Given the description of an element on the screen output the (x, y) to click on. 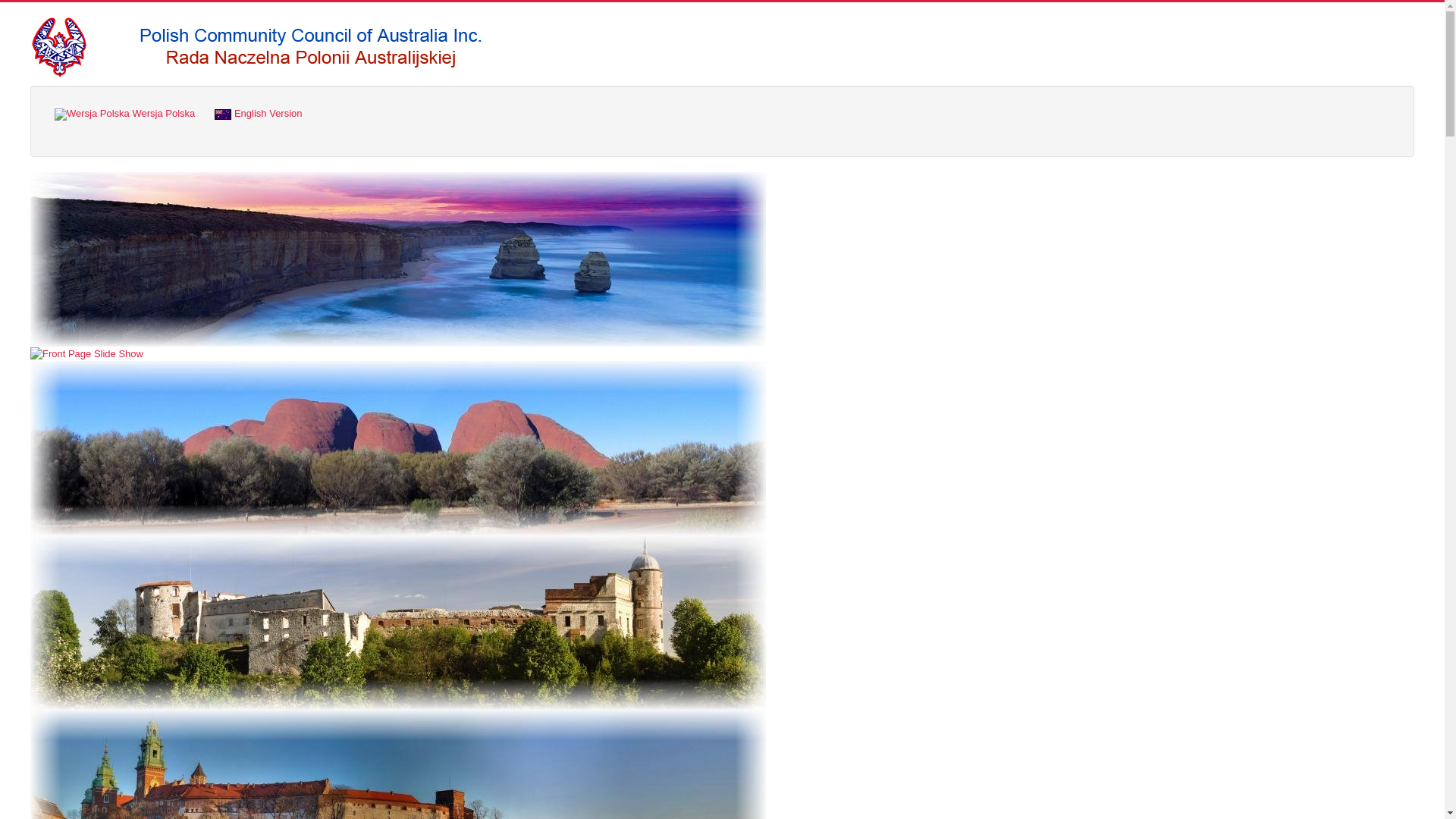
Front Page Slide Show Element type: hover (397, 447)
English Version Element type: text (257, 113)
Wersja Polska Element type: text (124, 114)
Front Page Slide Show Element type: hover (86, 353)
Front Page Slide Show Element type: hover (397, 259)
Front Page Slide Show Element type: hover (397, 622)
